Given the description of an element on the screen output the (x, y) to click on. 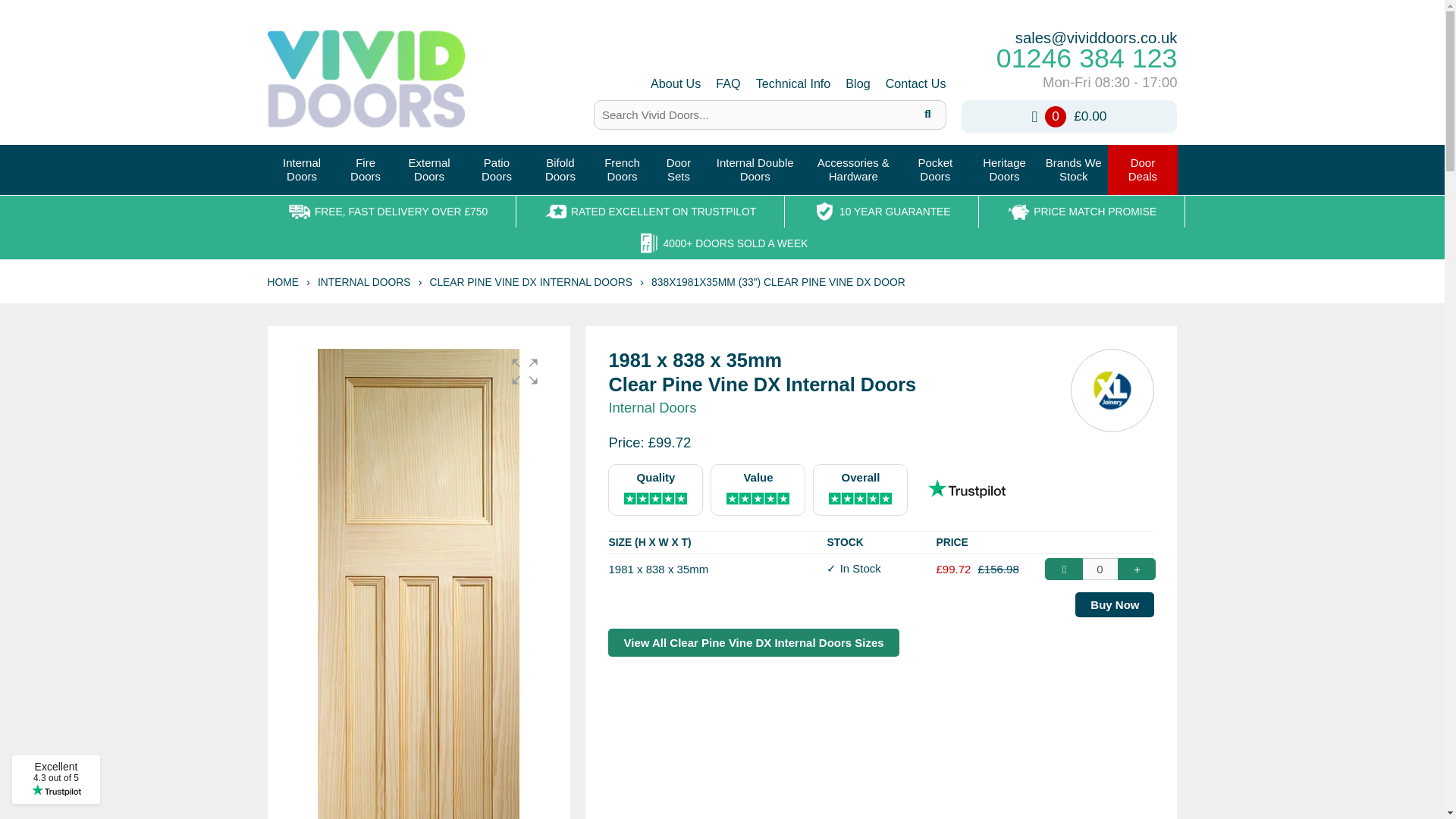
Call Vivid Doors (1068, 58)
0 (1099, 568)
01246 384 123 (1068, 58)
Vivid Doors Blog (857, 83)
FAQ (727, 83)
Vivid Doors Frequently Asked Questions (727, 83)
About Us (675, 83)
Contact Us (301, 169)
Contact Vivid Doors (915, 83)
Technical Info (915, 83)
About Vivid Doors (793, 83)
Internal Doors (675, 83)
Blog (301, 169)
Email Vivid Doors (857, 83)
